Given the description of an element on the screen output the (x, y) to click on. 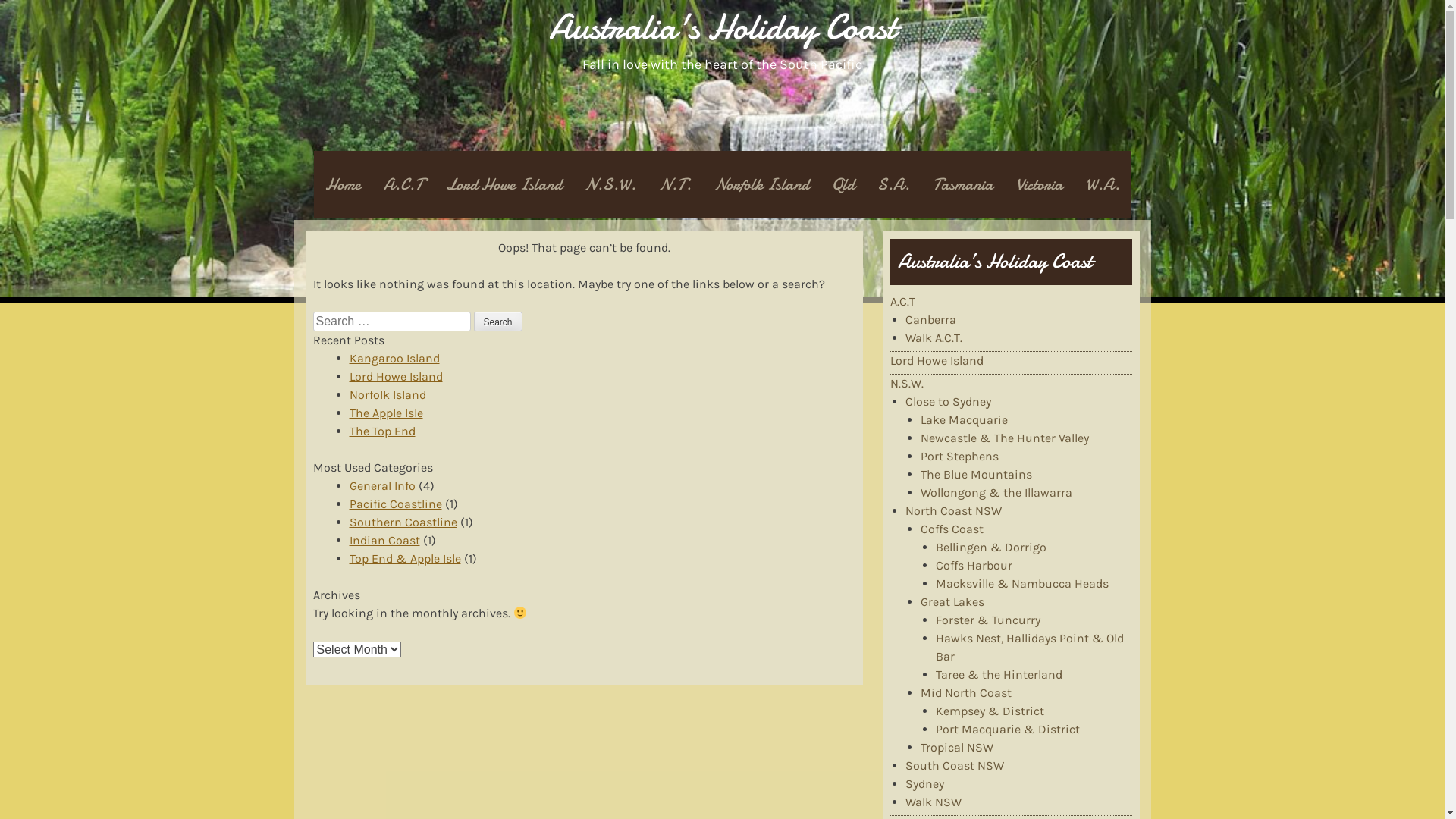
Close to Sydney Element type: text (948, 401)
Port Macquarie & District Element type: text (1007, 728)
General Info Element type: text (381, 485)
Kangaroo Island Element type: text (393, 358)
Taree & the Hinterland Element type: text (998, 674)
Indian Coast Element type: text (383, 540)
Tropical NSW Element type: text (956, 747)
Lord Howe Island Element type: text (395, 376)
The Top End Element type: text (381, 430)
Tasmania Element type: text (962, 184)
Sydney Element type: text (924, 783)
Skip to content Element type: text (323, 208)
Coffs Coast Element type: text (951, 528)
North Coast NSW Element type: text (953, 510)
Norfolk Island Element type: text (386, 394)
Canberra Element type: text (930, 319)
The Blue Mountains Element type: text (976, 474)
Forster & Tuncurry Element type: text (987, 619)
Pacific Coastline Element type: text (394, 503)
The Apple Isle Element type: text (385, 412)
Home Element type: text (342, 184)
Walk NSW Element type: text (933, 801)
Search Element type: text (497, 321)
Top End & Apple Isle Element type: text (404, 558)
Hawks Nest, Hallidays Point & Old Bar Element type: text (1029, 646)
W.A. Element type: text (1101, 184)
Kempsey & District Element type: text (989, 710)
Australia'S Holiday Coast Element type: text (722, 26)
Coffs Harbour Element type: text (973, 565)
A.C.T Element type: text (402, 184)
Great Lakes Element type: text (952, 601)
Port Stephens Element type: text (959, 455)
Mid North Coast Element type: text (965, 692)
S.A. Element type: text (893, 184)
Bellingen & Dorrigo Element type: text (990, 546)
Lake Macquarie Element type: text (963, 419)
Victoria Element type: text (1038, 184)
N.S.W. Element type: text (610, 184)
Lord Howe Island Element type: text (502, 184)
Lord Howe Island Element type: text (936, 360)
Macksville & Nambucca Heads Element type: text (1021, 583)
Wollongong & the Illawarra Element type: text (996, 492)
South Coast NSW Element type: text (954, 765)
A.C.T Element type: text (902, 301)
N.T. Element type: text (674, 184)
Newcastle & The Hunter Valley Element type: text (1004, 437)
Norfolk Island Element type: text (760, 184)
Qld Element type: text (843, 184)
N.S.W. Element type: text (906, 383)
Southern Coastline Element type: text (402, 521)
Walk A.C.T. Element type: text (933, 337)
